Given the description of an element on the screen output the (x, y) to click on. 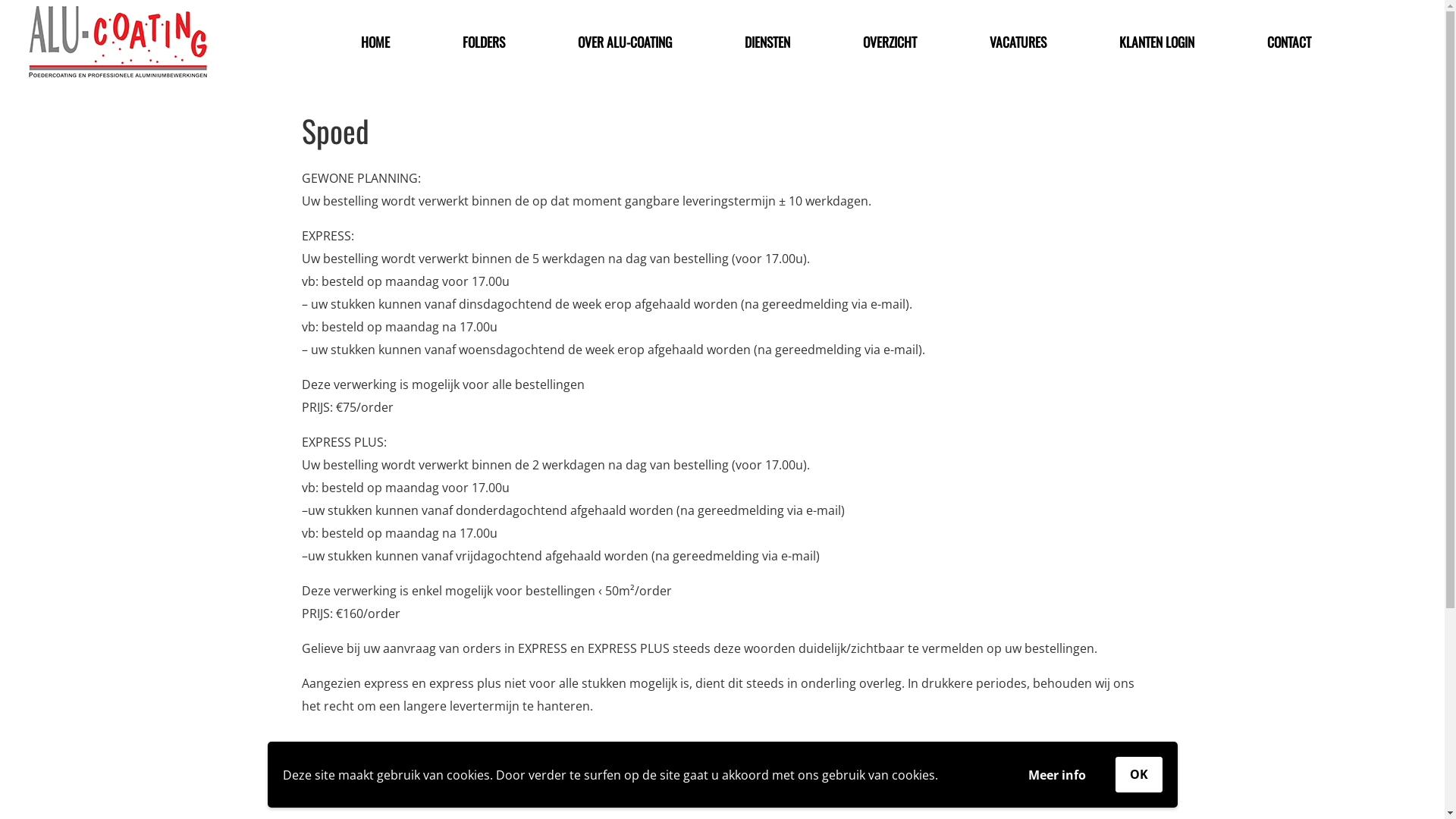
OVER ALU-COATING Element type: text (624, 41)
KLANTEN LOGIN Element type: text (1156, 41)
VACATURES Element type: text (1017, 41)
DIENSTEN Element type: text (767, 41)
FOLDERS Element type: text (483, 41)
Meer info Element type: text (1056, 774)
CONTACT Element type: text (1289, 41)
HOME Element type: text (374, 41)
OVERZICHT Element type: text (889, 41)
OK Element type: text (1137, 774)
